Given the description of an element on the screen output the (x, y) to click on. 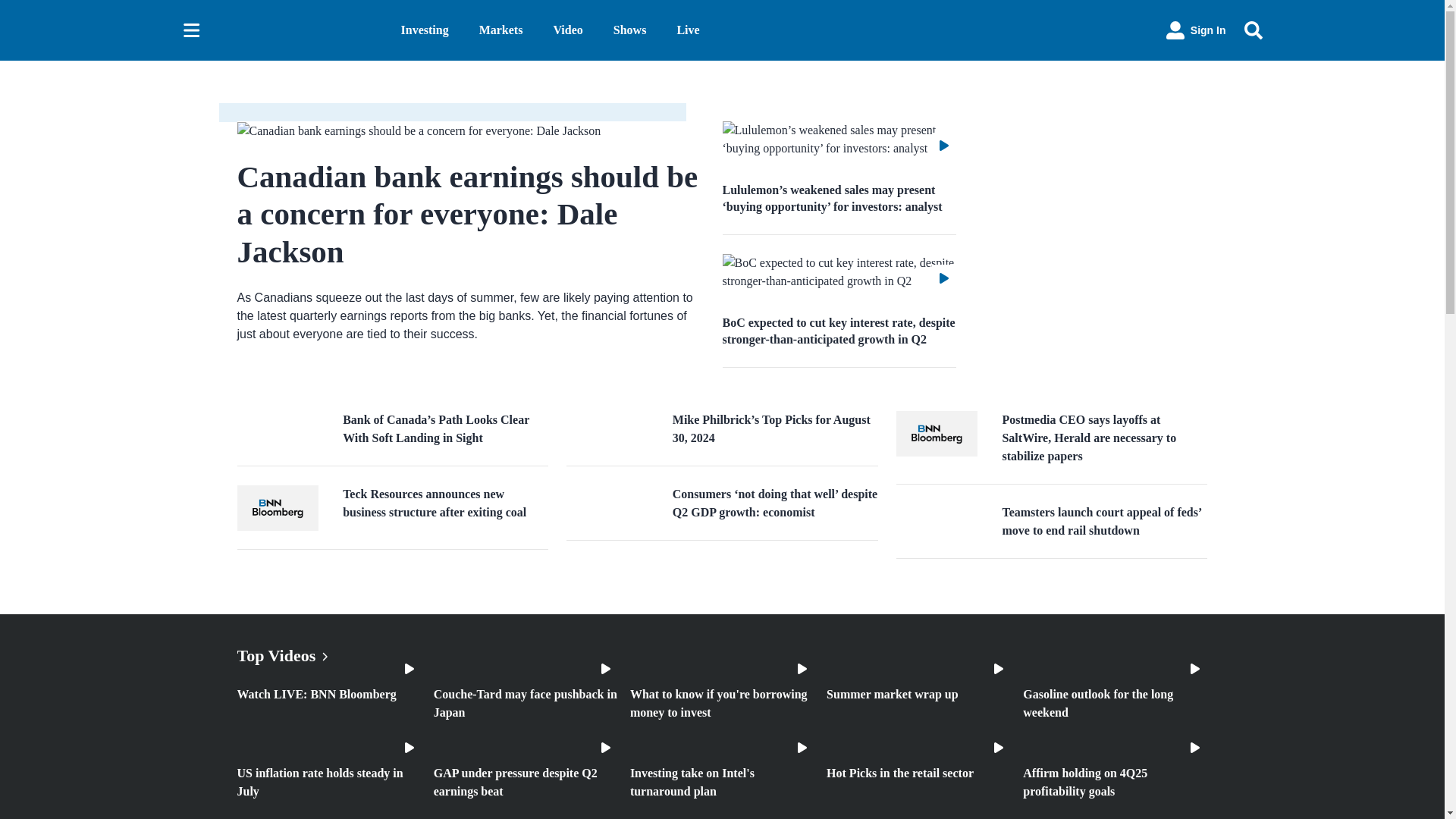
Live (687, 30)
Shows (629, 30)
Markets (500, 30)
Video (567, 30)
Sections (191, 30)
Investing (424, 30)
Sign In (1195, 30)
